Given the description of an element on the screen output the (x, y) to click on. 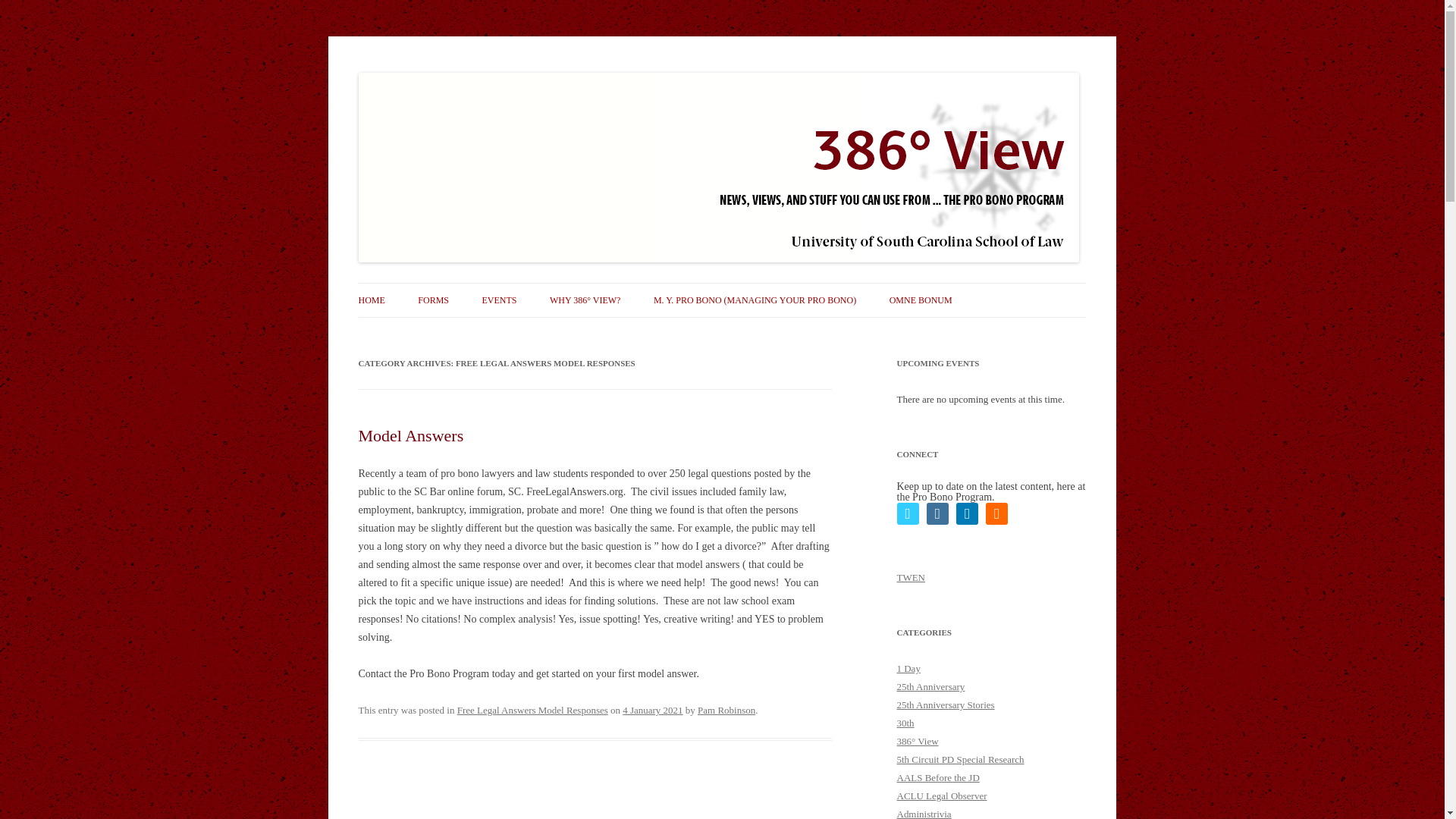
Pro Bono Program (437, 72)
OMNE BONUM (920, 299)
Model Answers (410, 435)
1 Day (908, 668)
30th (905, 722)
ALUMNI CONTACT (493, 332)
Subscribe via RSS (996, 513)
FORMS (432, 299)
5th Circuit PD Special Research (959, 758)
25th Anniversary Stories (945, 704)
Pro Bono Program (437, 72)
PRO BONO PROGRAM WEBSITE (433, 332)
AALS Before the JD (937, 777)
11:11 AM (652, 709)
